Given the description of an element on the screen output the (x, y) to click on. 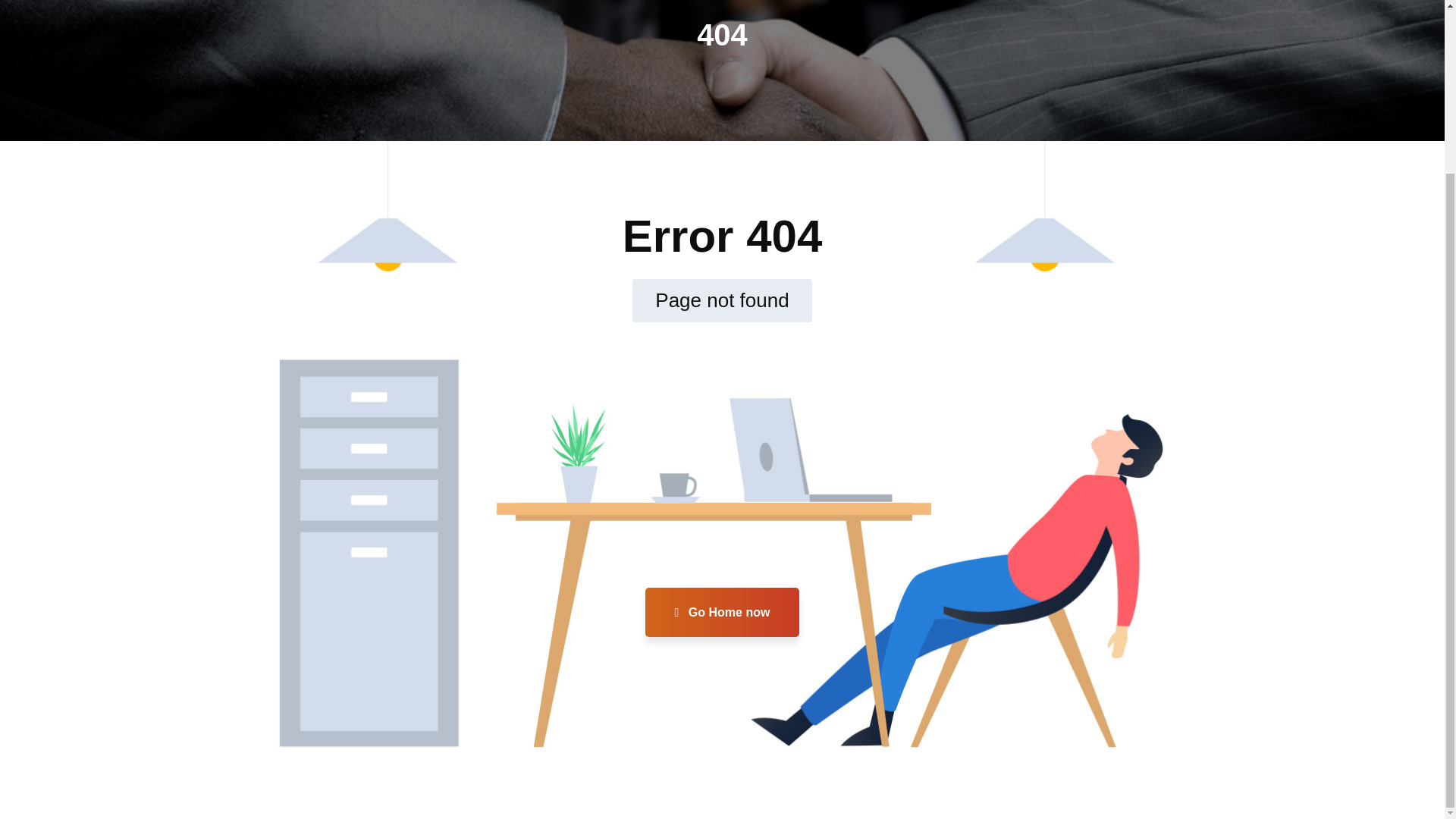
Go Home now (722, 612)
About us (387, 465)
Subscribe (888, 451)
Teamjaketech (774, 573)
